Given the description of an element on the screen output the (x, y) to click on. 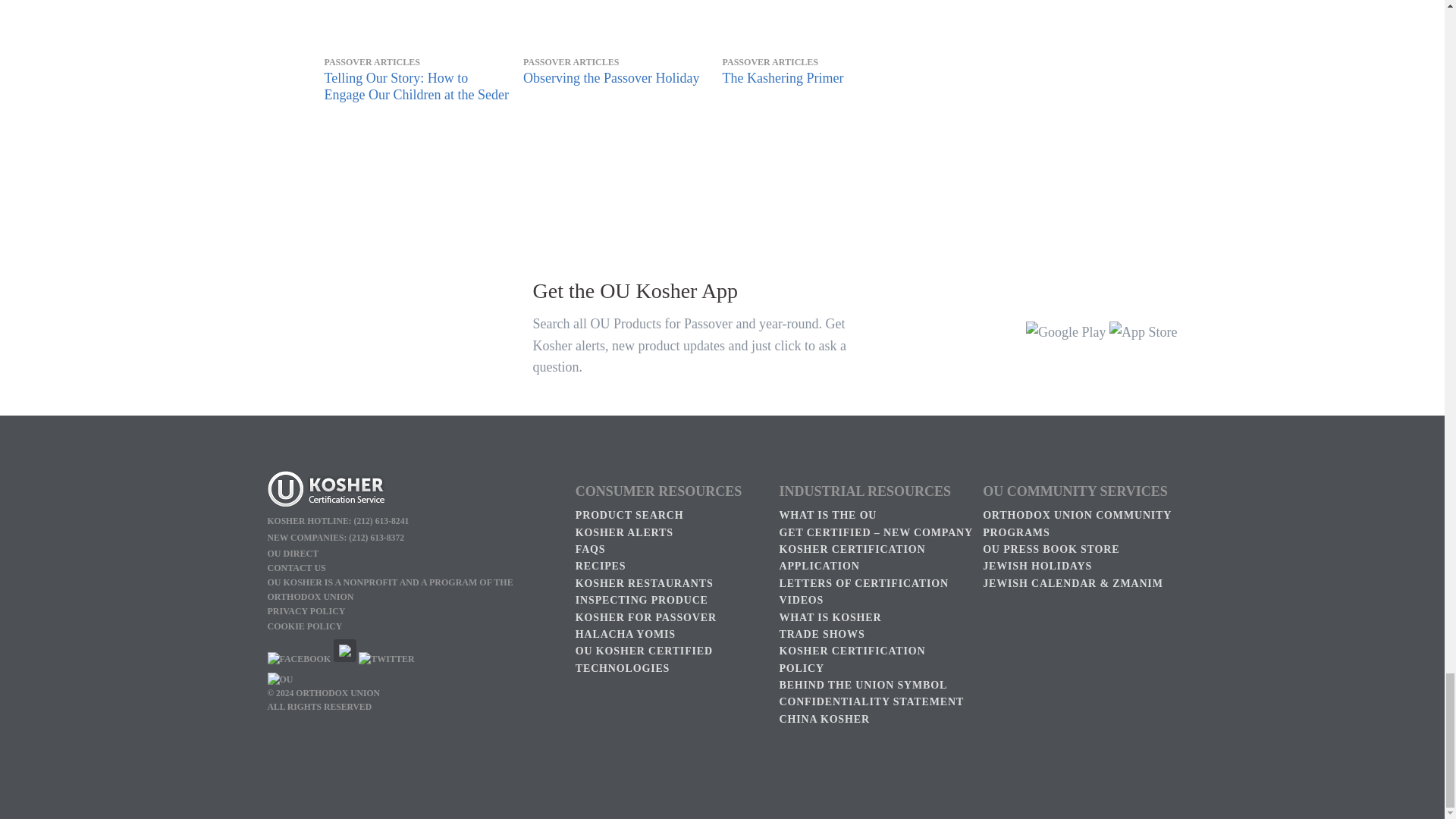
OU Kosher (344, 658)
OU Kosher (385, 658)
OU Kosher (298, 658)
OU Kosher (413, 491)
